Given the description of an element on the screen output the (x, y) to click on. 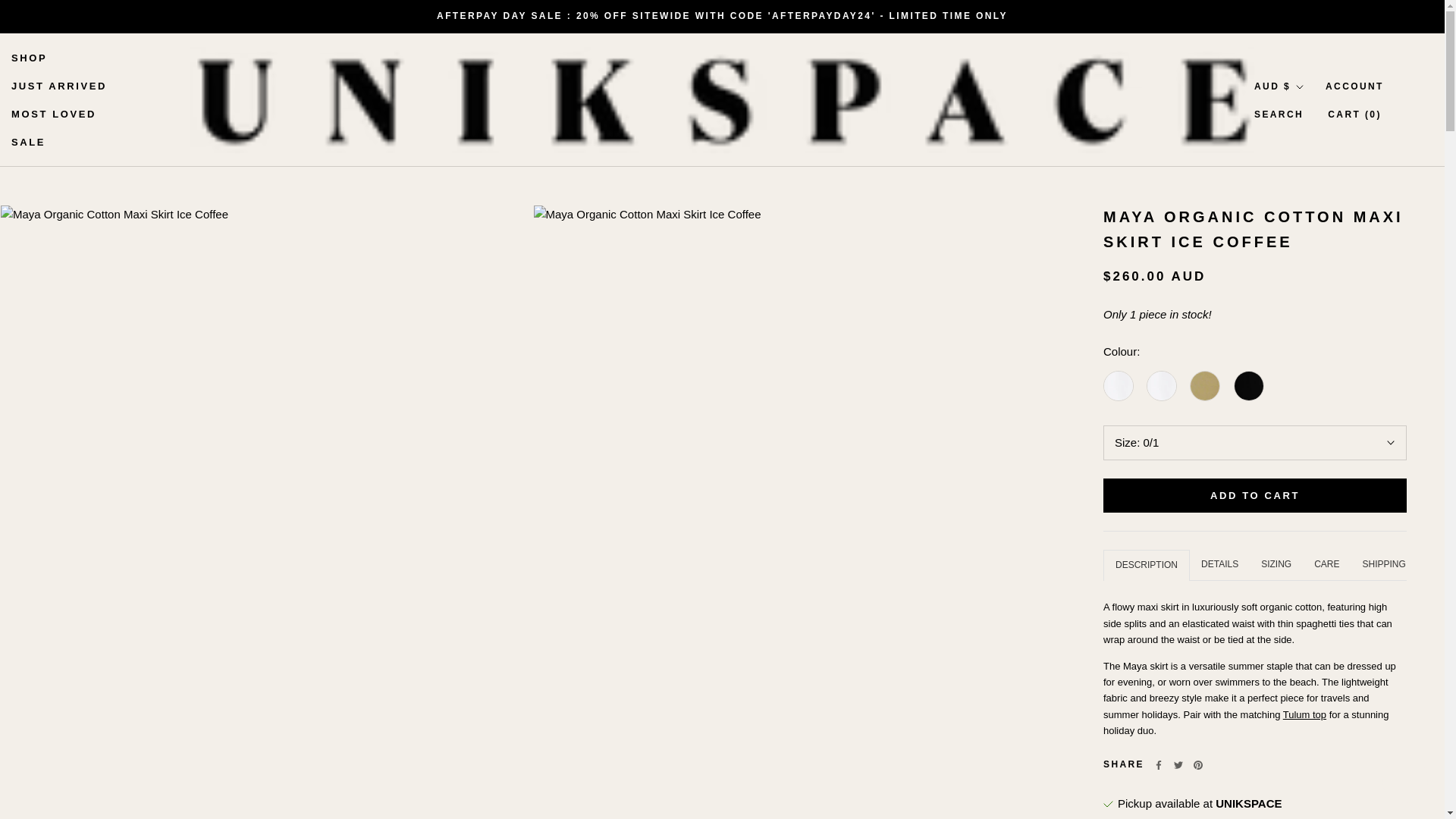
White (1120, 379)
Black (1248, 379)
Shopify online store chat (1404, 781)
Ice Coffee (28, 57)
White (1206, 379)
